Given the description of an element on the screen output the (x, y) to click on. 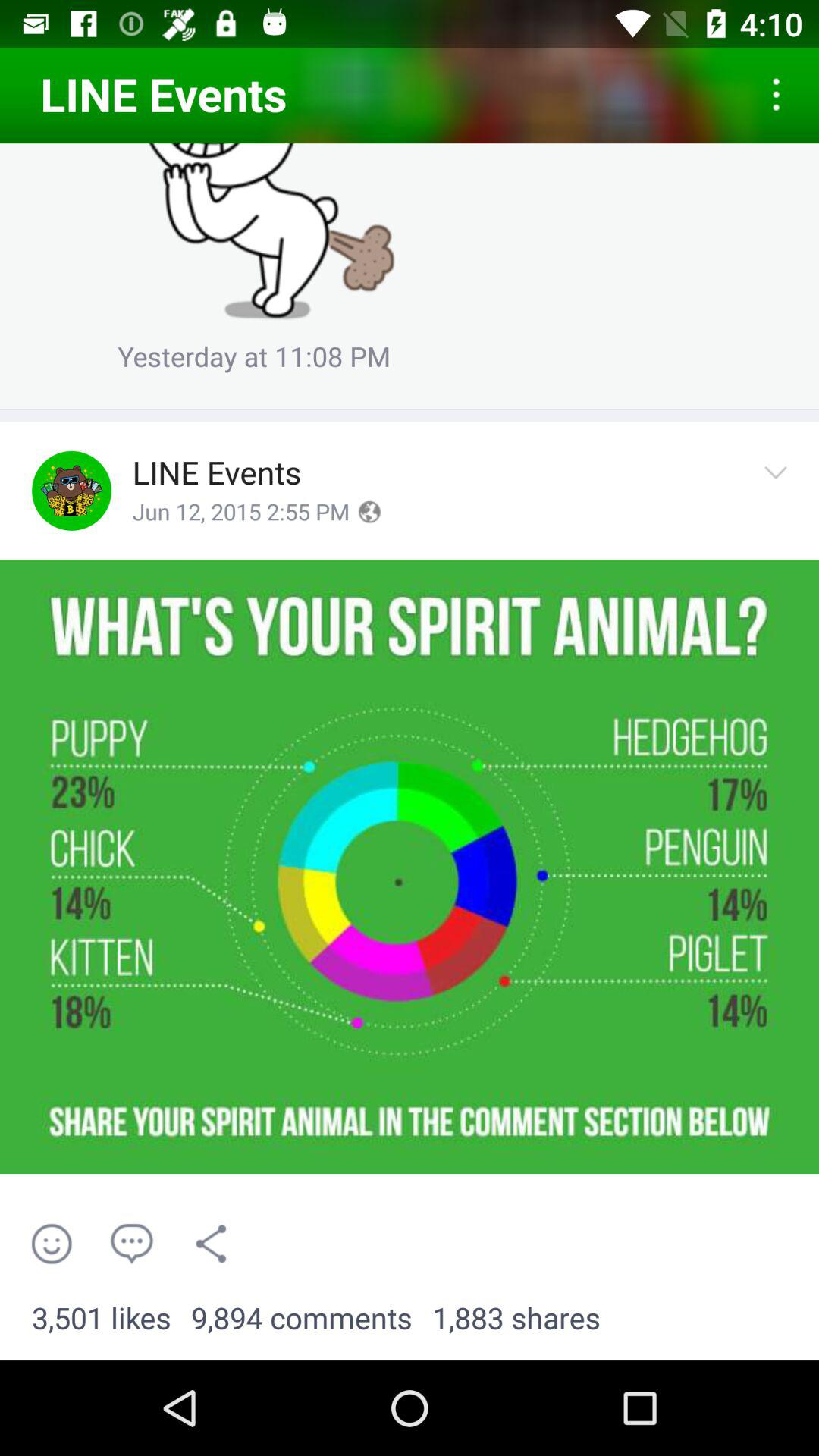
options (780, 490)
